Given the description of an element on the screen output the (x, y) to click on. 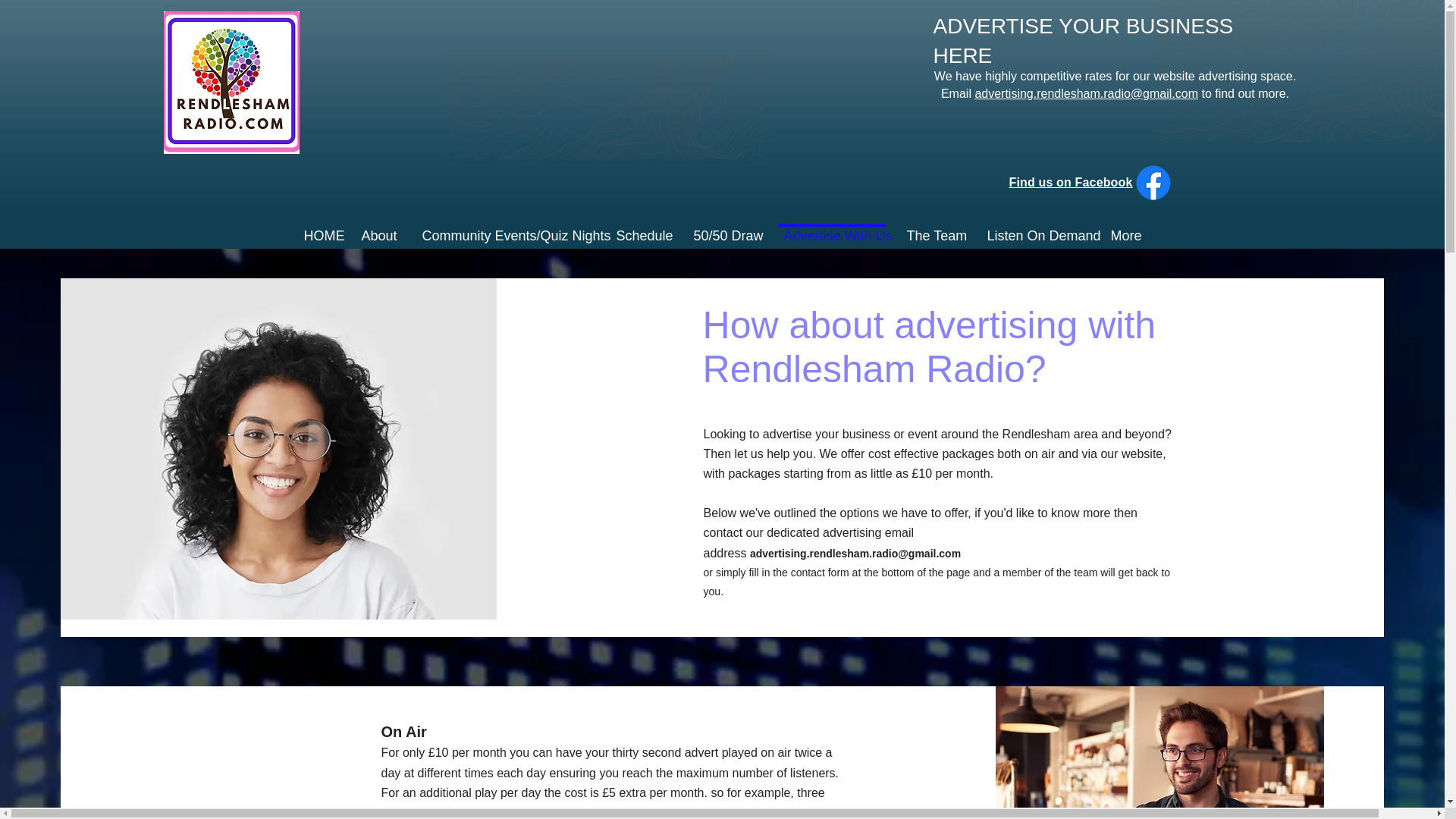
About (377, 228)
Schedule (640, 228)
Listen On Demand (1035, 228)
Advertise With Us (831, 227)
HOME (318, 228)
The Team (933, 228)
Find us on Facebook (1070, 182)
